Given the description of an element on the screen output the (x, y) to click on. 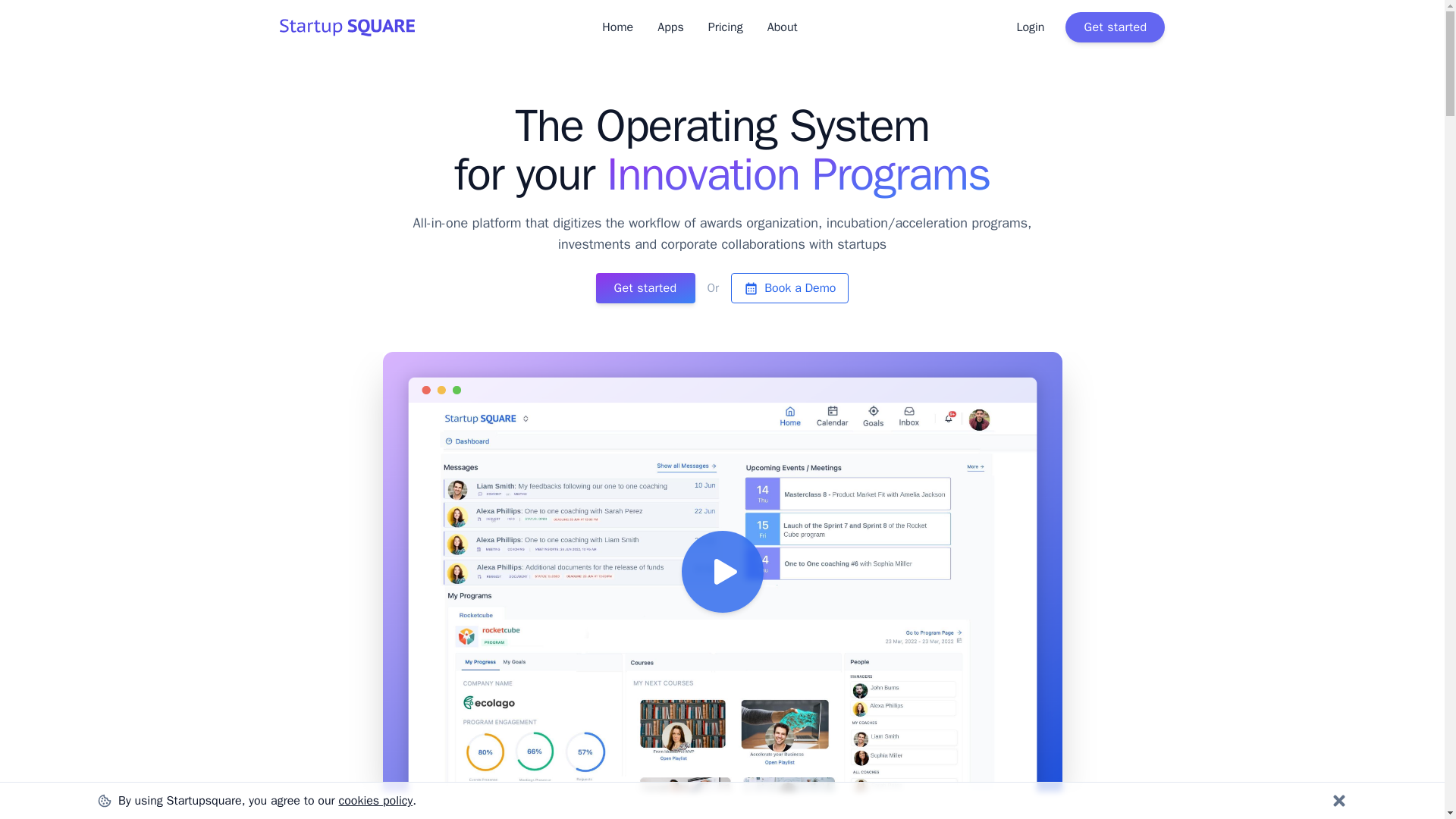
Apps (670, 27)
Get started (1114, 27)
Pricing (725, 27)
Get started (645, 287)
Home (617, 27)
Book a Demo (789, 287)
Login (1029, 27)
About (782, 27)
